Given the description of an element on the screen output the (x, y) to click on. 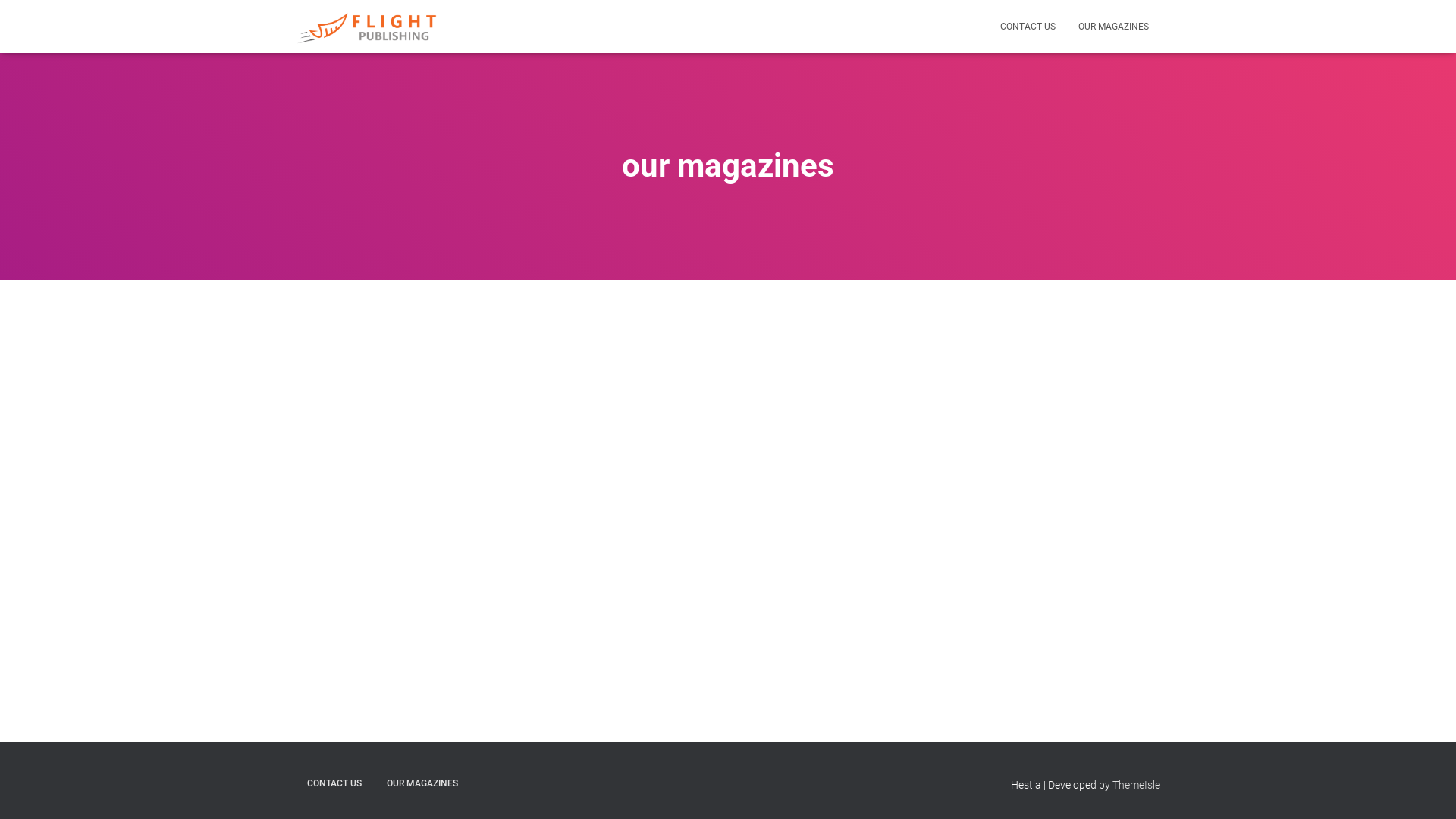
Flight Publishing Element type: hover (367, 26)
CONTACT US Element type: text (334, 783)
OUR MAGAZINES Element type: text (422, 783)
ThemeIsle Element type: text (1136, 784)
OUR MAGAZINES Element type: text (1113, 26)
CONTACT US Element type: text (1027, 26)
